Given the description of an element on the screen output the (x, y) to click on. 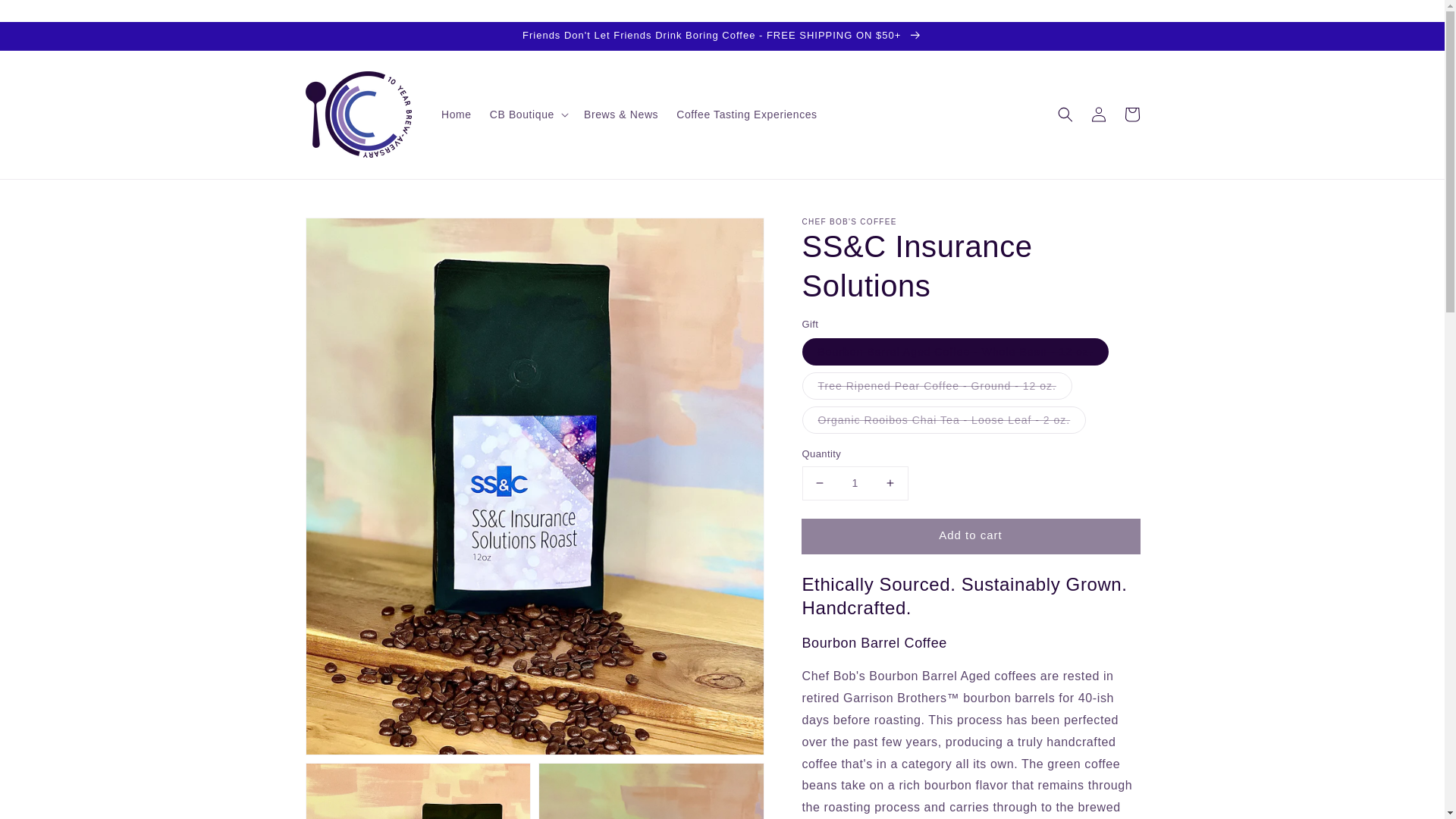
Skip to product information (350, 233)
Home (456, 114)
Coffee Tasting Experiences (746, 114)
Skip to content (45, 16)
1 (855, 482)
Log in (1098, 114)
Cart (1131, 114)
